Given the description of an element on the screen output the (x, y) to click on. 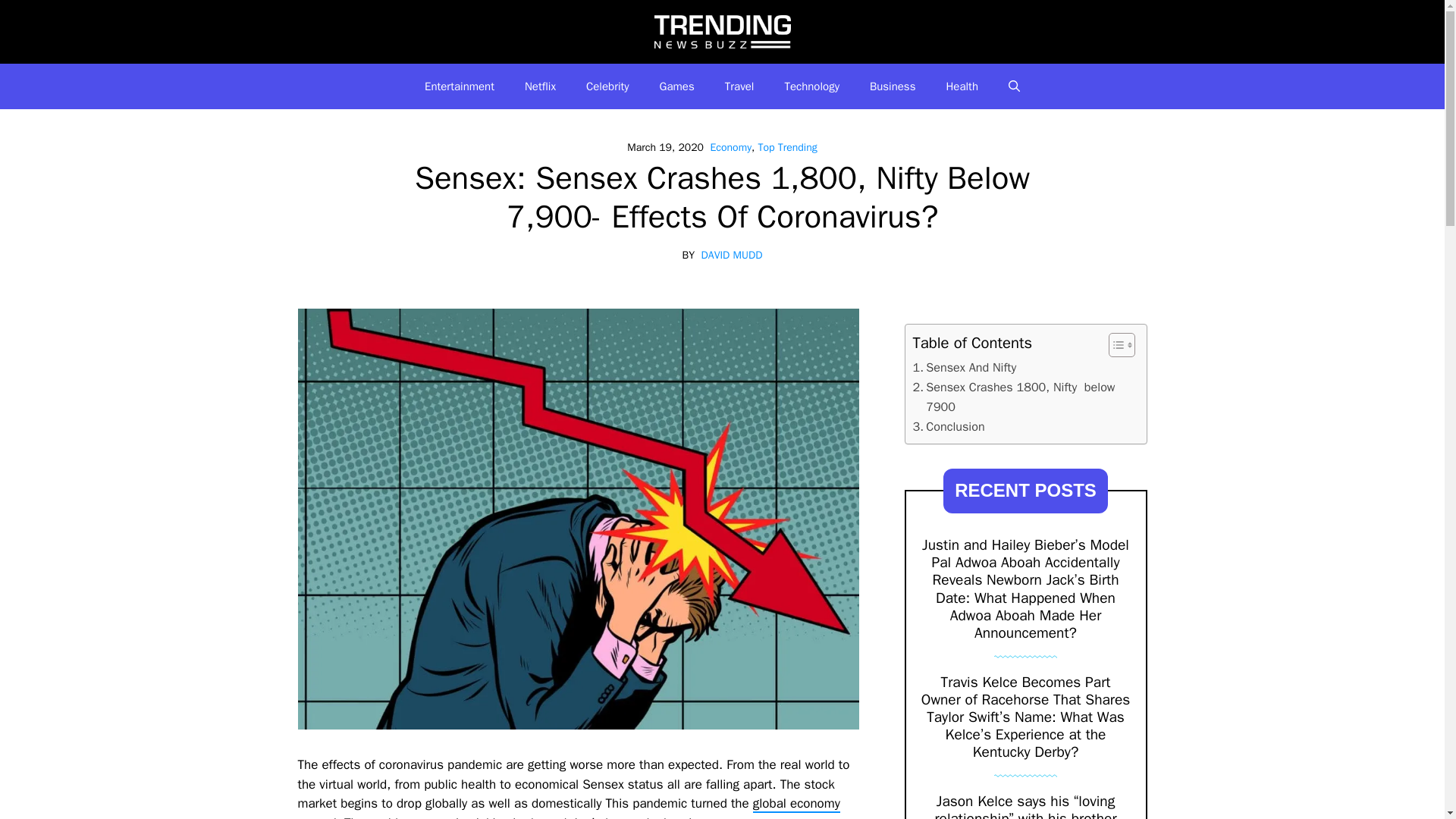
Top Trending (786, 146)
Conclusion (948, 426)
Celebrity (607, 85)
Health (961, 85)
Economy (730, 146)
DAVID MUDD (731, 254)
Entertainment (459, 85)
Games (677, 85)
Travel (740, 85)
Business (892, 85)
